Given the description of an element on the screen output the (x, y) to click on. 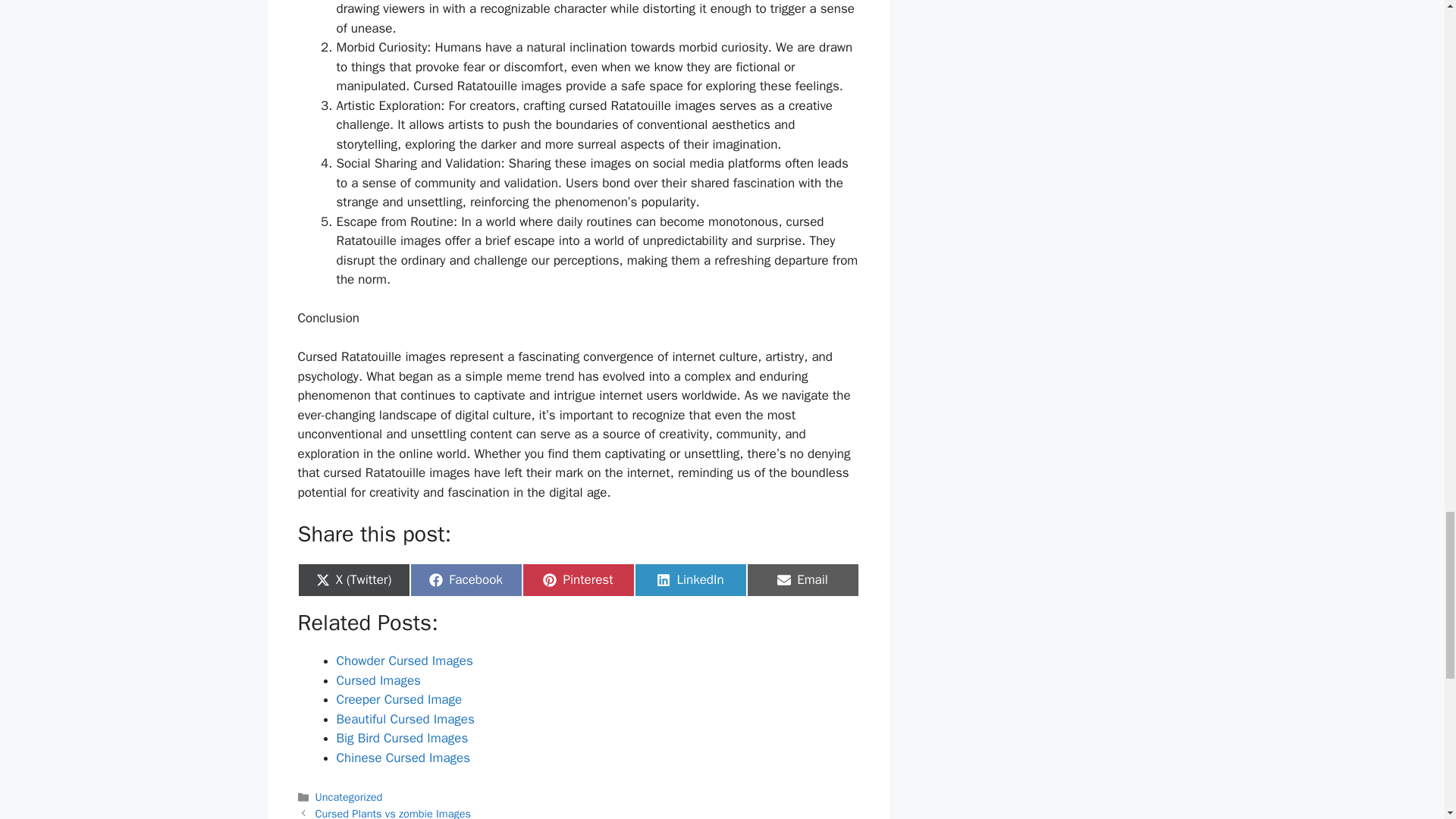
Chinese Cursed Images (403, 757)
Uncategorized (577, 580)
Cursed Images (348, 796)
Creeper Cursed Image (378, 680)
Cursed Plants vs zombie Images (465, 580)
Big Bird Cursed Images (399, 699)
Chowder Cursed Images (689, 580)
Beautiful Cursed Images (392, 812)
